Given the description of an element on the screen output the (x, y) to click on. 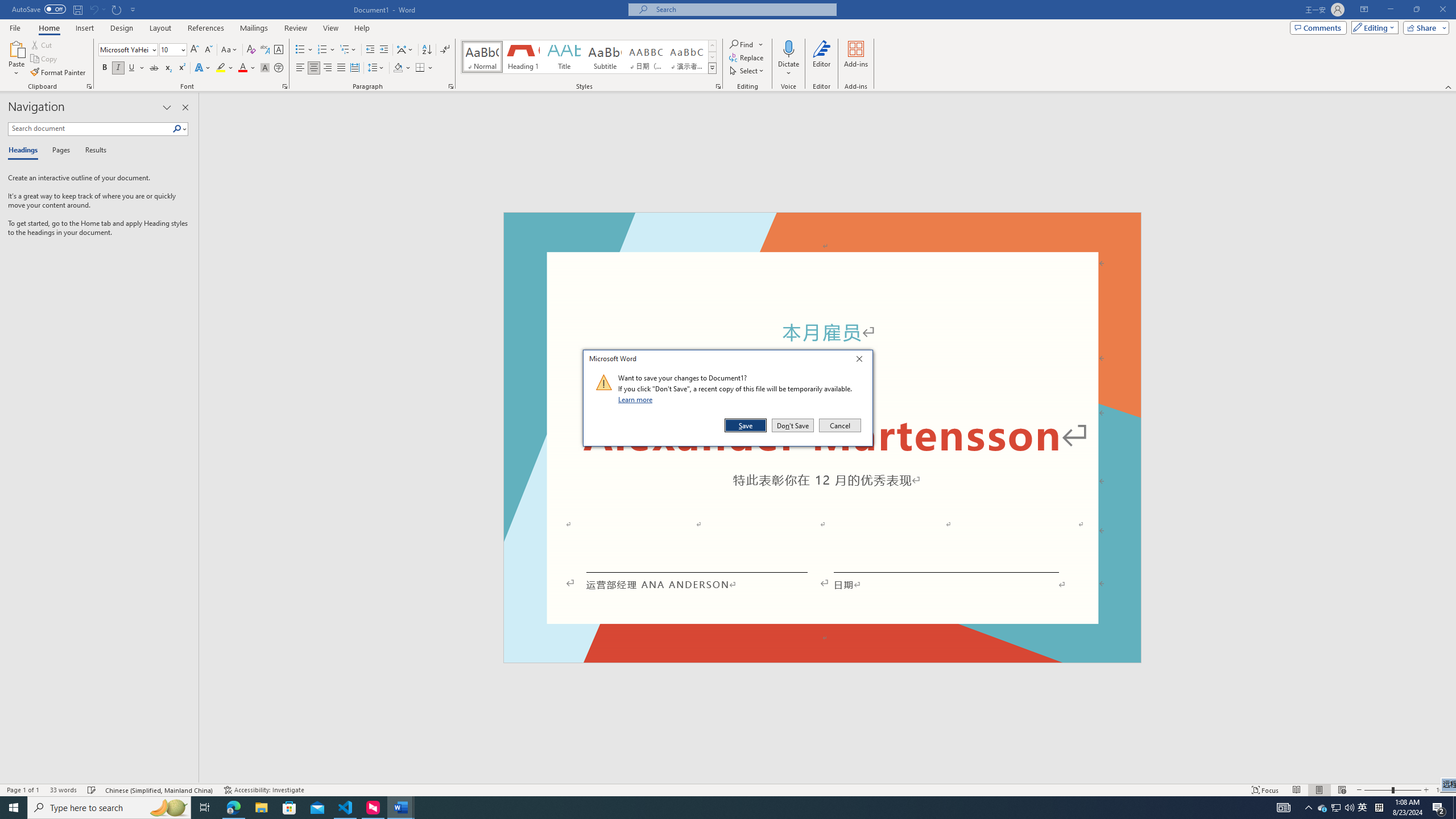
Subscript (167, 67)
Tray Input Indicator - Chinese (Simplified, China) (1378, 807)
Row up (711, 45)
Shrink Font (208, 49)
Clear Formatting (250, 49)
Search document (89, 128)
Align Left (300, 67)
Styles (711, 67)
